Given the description of an element on the screen output the (x, y) to click on. 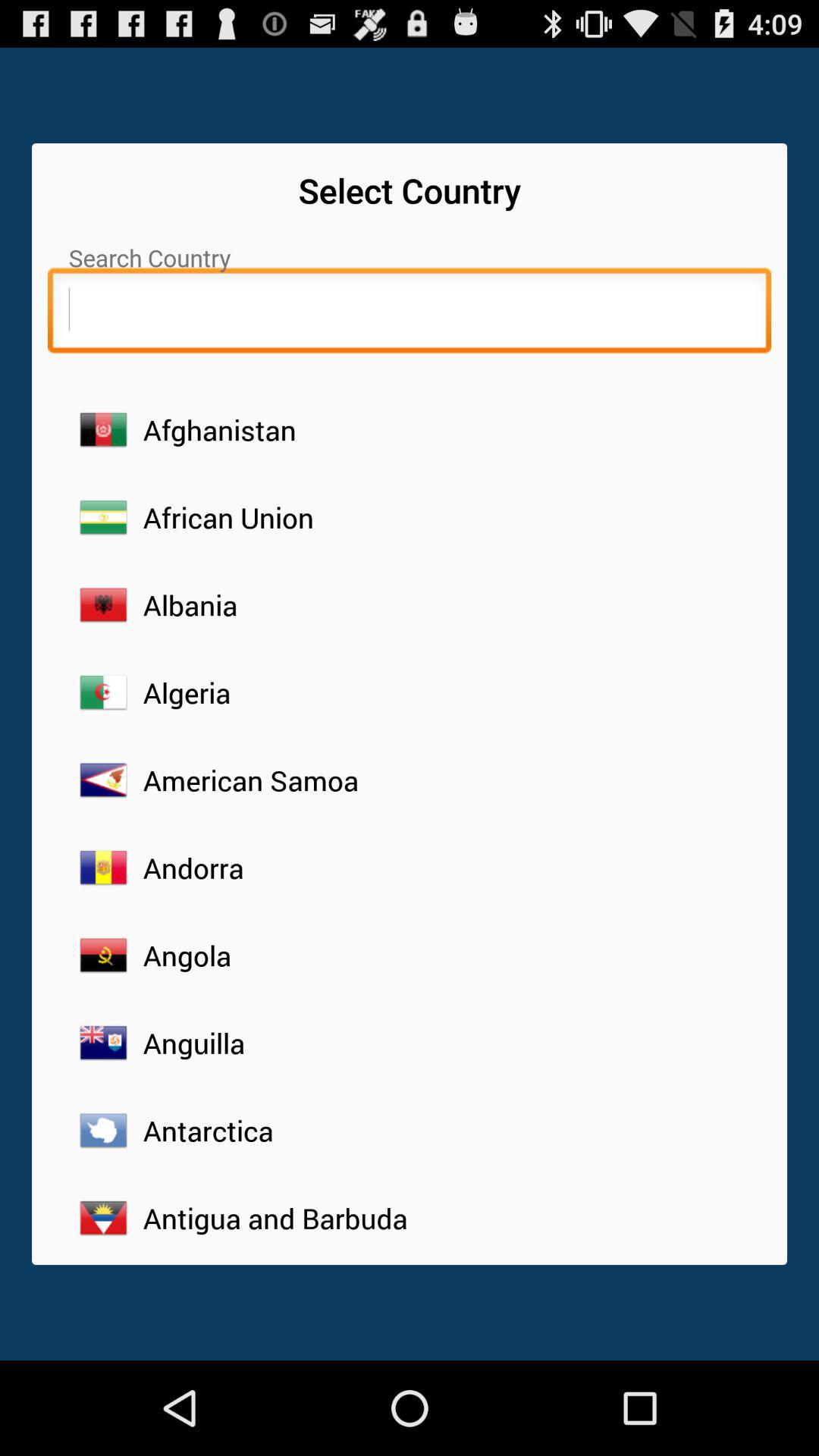
search country (409, 314)
